Given the description of an element on the screen output the (x, y) to click on. 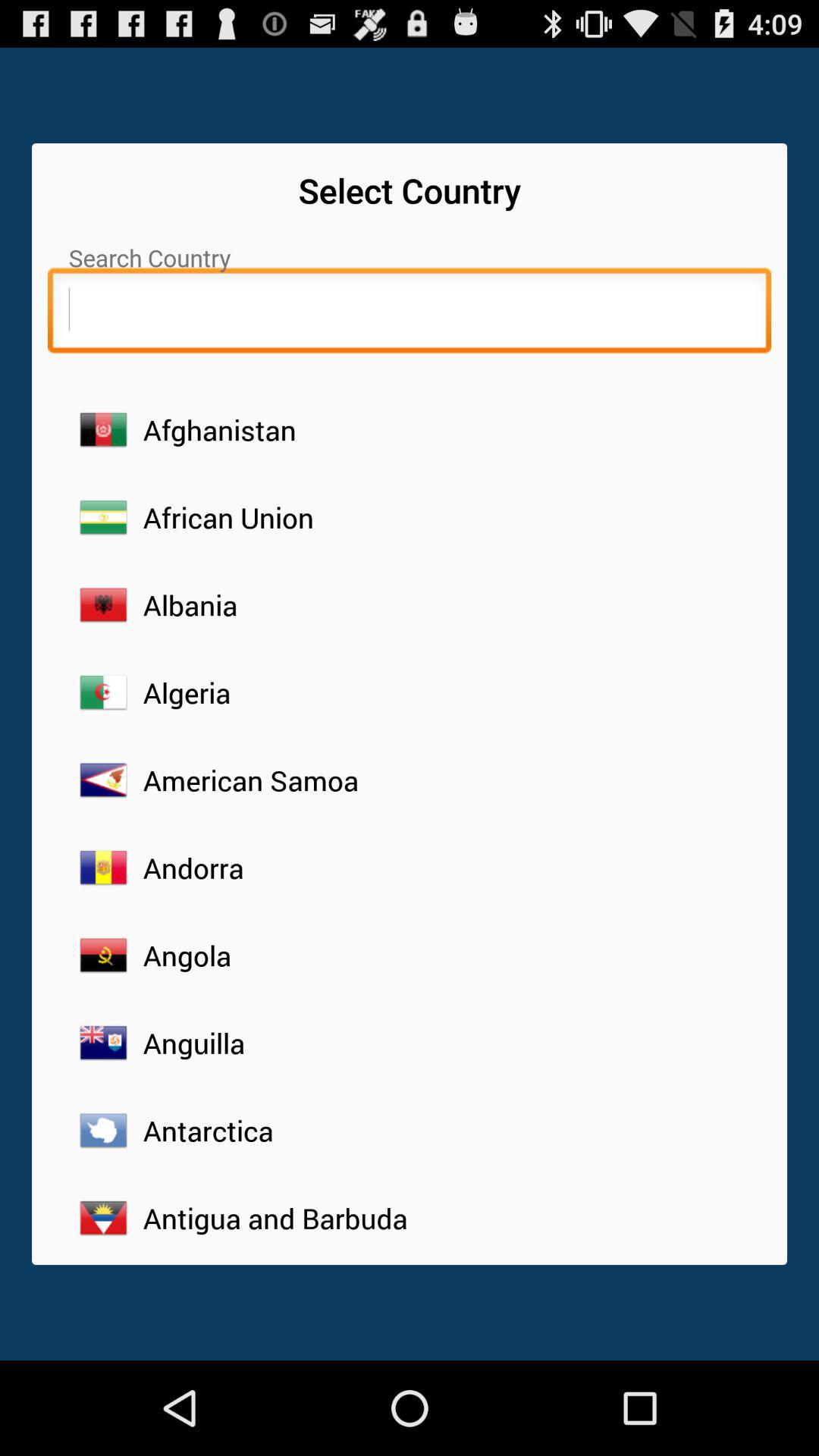
search country (409, 314)
